Given the description of an element on the screen output the (x, y) to click on. 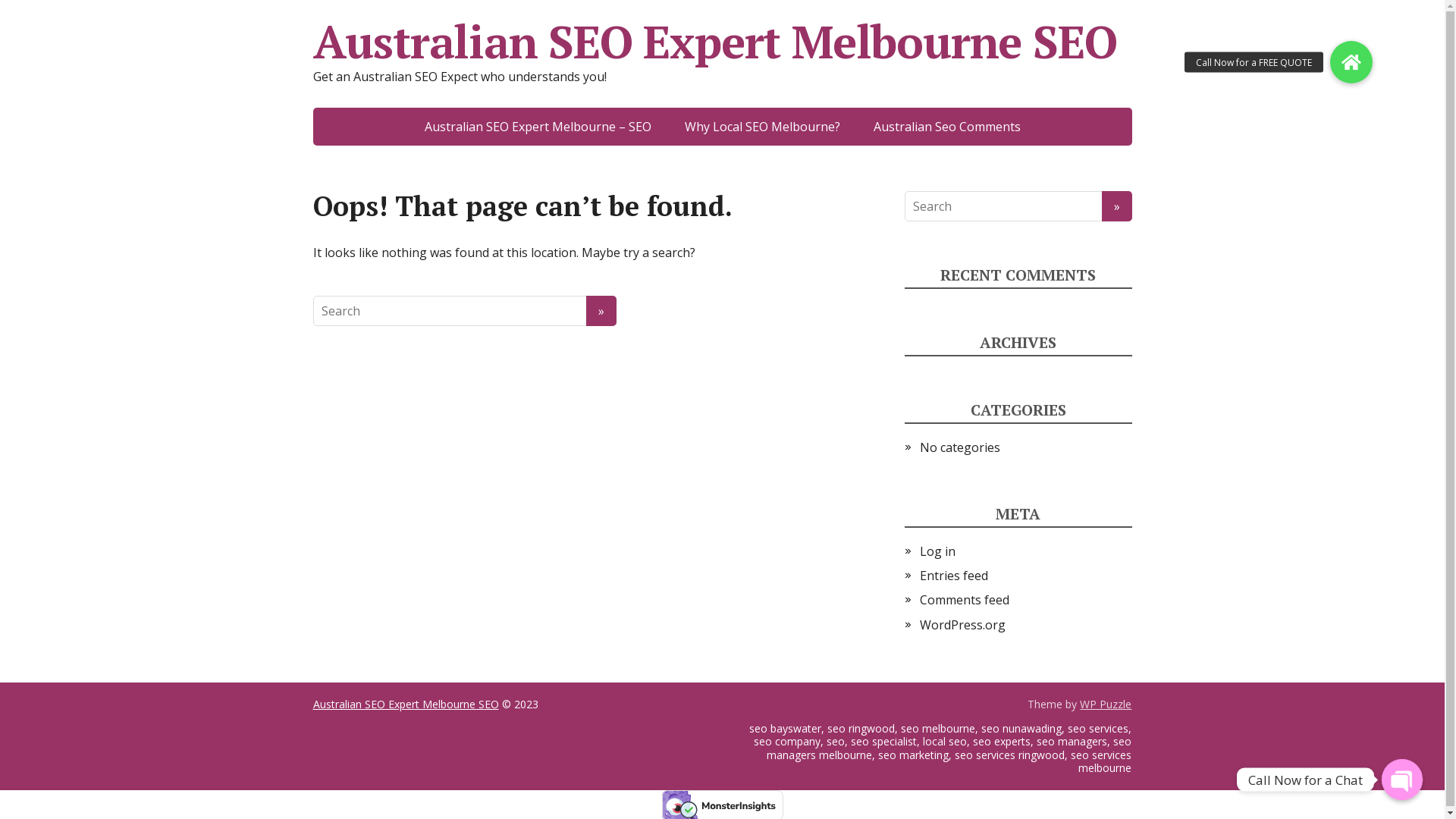
Entries feed Element type: text (953, 575)
Australian Seo Comments Element type: text (946, 126)
Australian SEO Expert Melbourne SEO Element type: text (405, 703)
WordPress.org Element type: text (961, 624)
Log in Element type: text (936, 550)
Why Local SEO Melbourne? Element type: text (761, 126)
Call Now for a FREE QUOTE Element type: text (1351, 61)
Australian SEO Expert Melbourne SEO Element type: text (721, 41)
Comments feed Element type: text (963, 599)
WP Puzzle Element type: text (1105, 703)
